Given the description of an element on the screen output the (x, y) to click on. 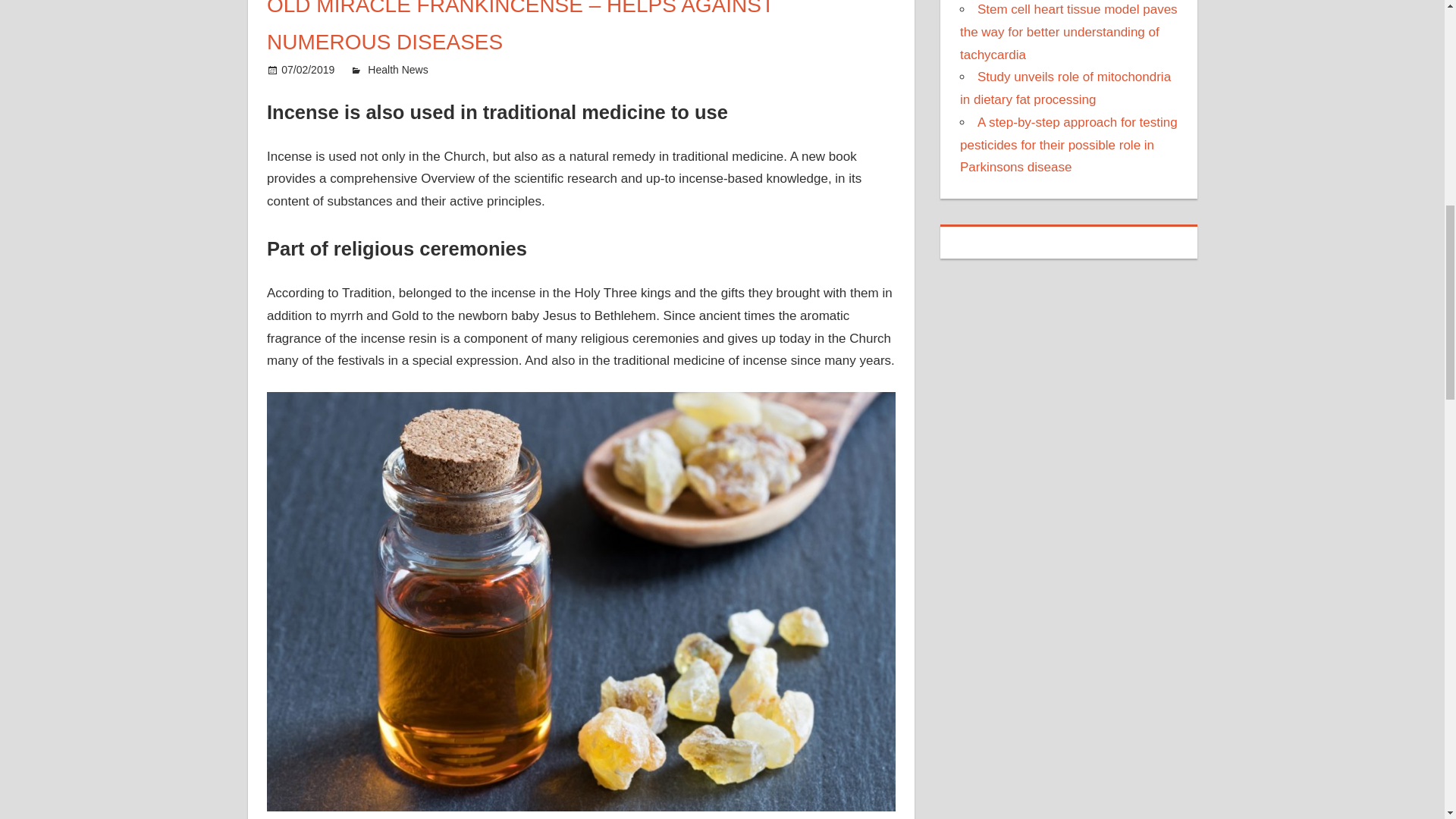
Health News (398, 69)
8:37 am (307, 69)
Study unveils role of mitochondria in dietary fat processing (1064, 88)
